Given the description of an element on the screen output the (x, y) to click on. 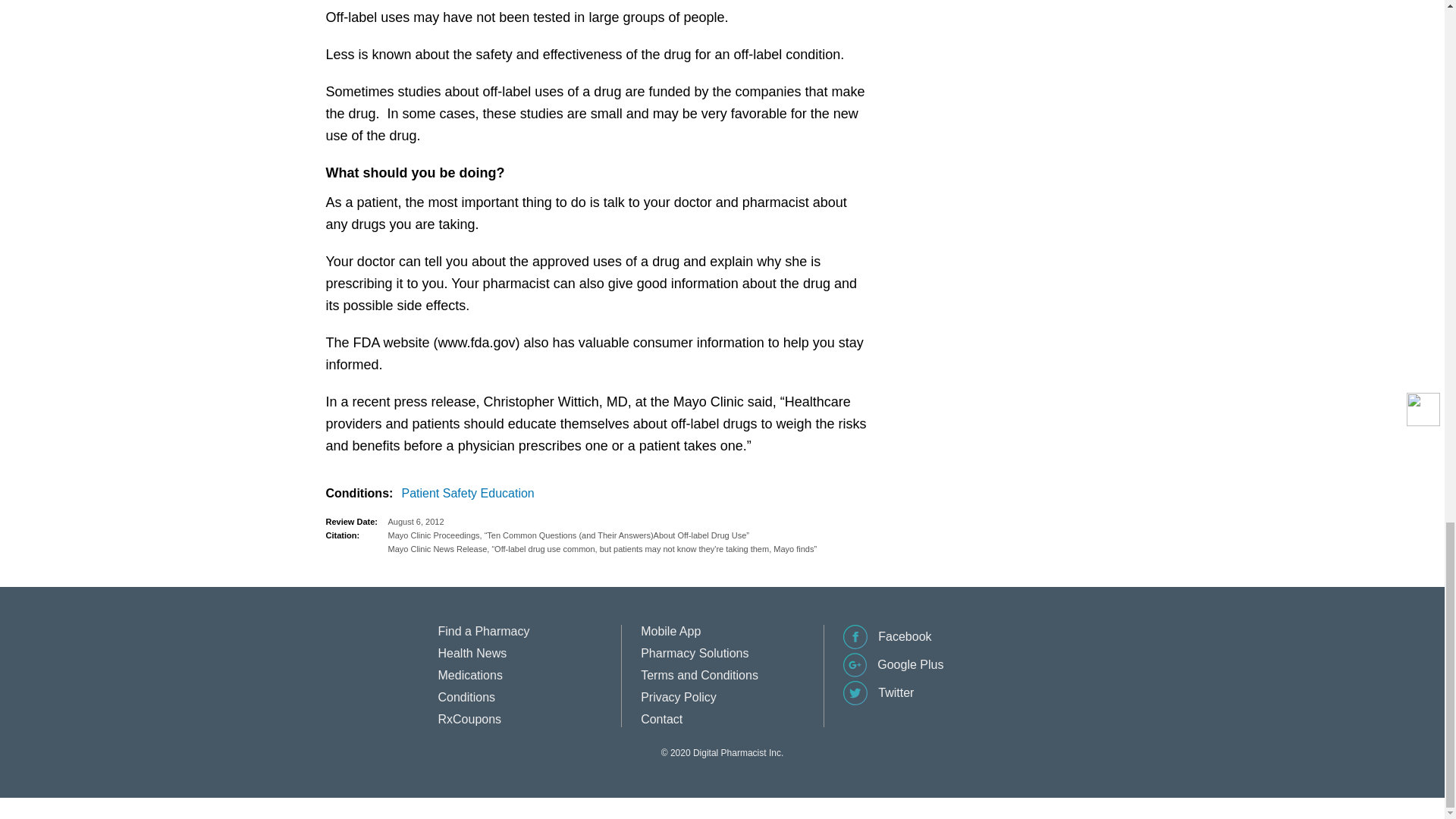
Patient Safety Education (470, 493)
